Given the description of an element on the screen output the (x, y) to click on. 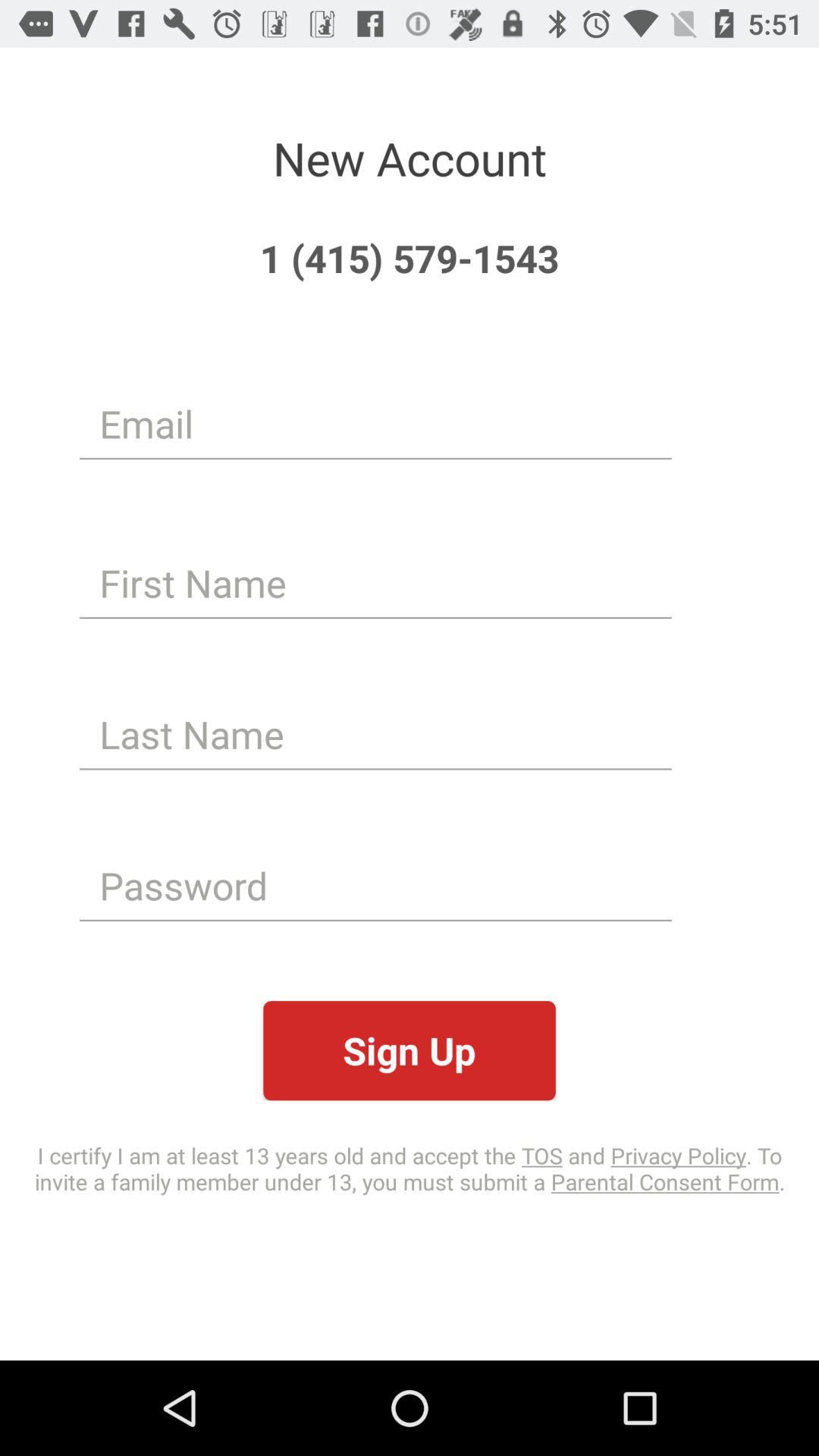
open the icon above the i certify i item (409, 1050)
